Given the description of an element on the screen output the (x, y) to click on. 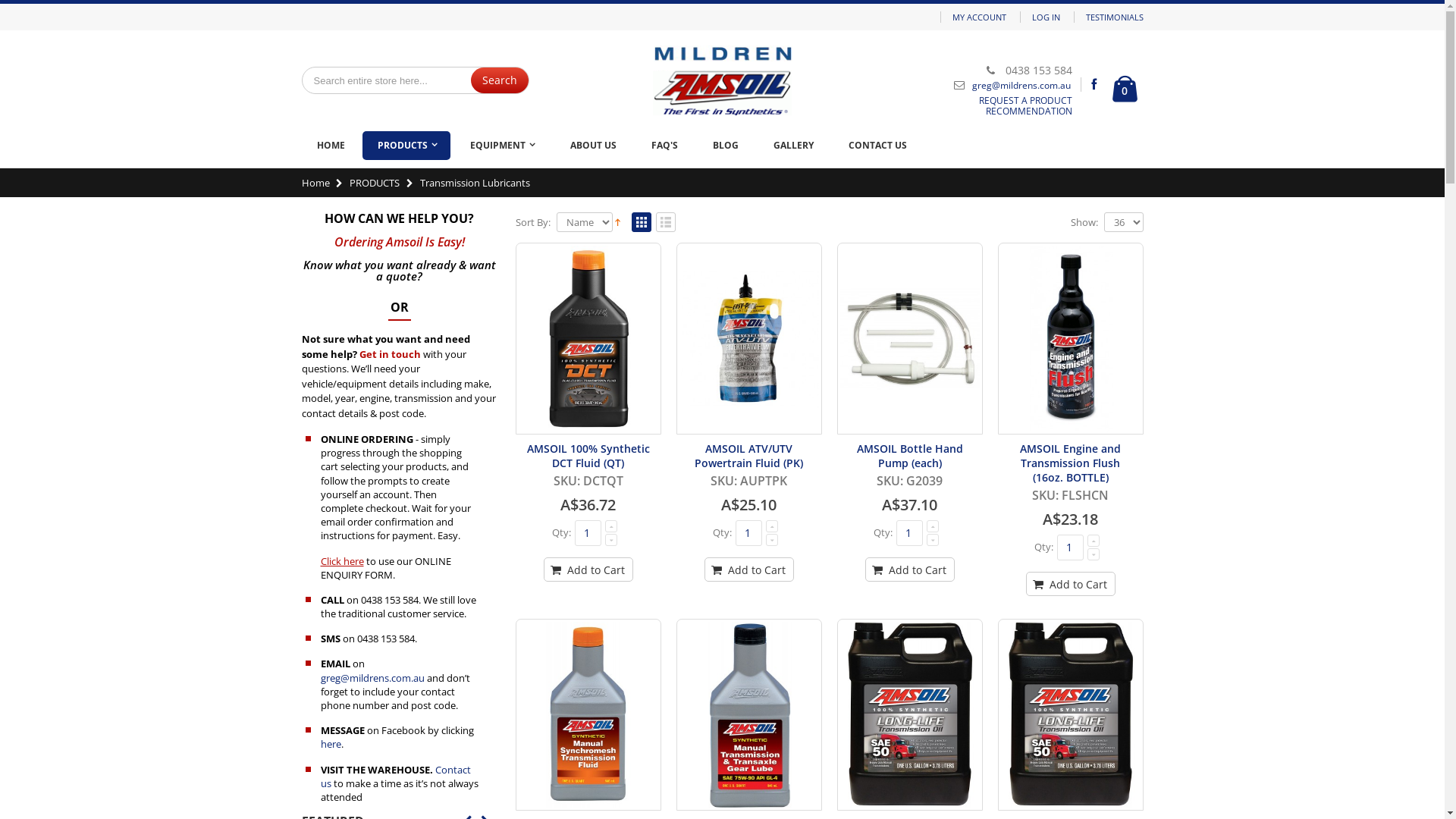
Set Descending Direction Element type: hover (616, 220)
AMSOIL 100% Synthetic DCT Fluid (QT) Element type: text (587, 455)
List Element type: hover (664, 222)
here Element type: text (330, 743)
TESTIMONIALS Element type: text (1114, 16)
AMSOIL ATV/UTV Powertrain Fluid (PK) Element type: text (748, 455)
AMSOIL ATV/UTV Powertrain Fluid (PK) Element type: hover (749, 338)
AMSOIL Bottle Hand Pump (each) Element type: hover (909, 338)
Search Element type: text (498, 80)
GALLERY Element type: text (793, 145)
MY ACCOUNT Element type: text (979, 16)
HOME Element type: text (330, 145)
Qty Element type: hover (909, 533)
REQUEST A PRODUCT
RECOMMENDATION Element type: text (1024, 105)
Contact us Element type: text (395, 776)
BLOG Element type: text (725, 145)
 Add to Cart Element type: text (908, 569)
Click here Element type: text (341, 560)
Qty Element type: hover (748, 533)
CONTACT US Element type: text (876, 145)
AMSOIL SAE 50 Long Life Synthetic Transmission Oil (GALLON) Element type: hover (1070, 714)
 Add to Cart Element type: text (587, 569)
Qty Element type: hover (1070, 547)
PRODUCTS Element type: text (406, 145)
Get in touch Element type: text (389, 353)
 Add to Cart Element type: text (1069, 583)
EQUIPMENT Element type: text (501, 145)
AMSOIL Manual Synchromesh Transmission Fluid 5W-30 (QT) Element type: hover (588, 714)
LOG IN Element type: text (1045, 16)
FAQ'S Element type: text (663, 145)
AMSOIL Manual Transmission & Transaxle Gear Lube 75W-90 (QT) Element type: hover (749, 714)
Home Element type: text (315, 182)
Qty Element type: hover (587, 533)
 Add to Cart Element type: text (748, 569)
0 Element type: text (1123, 88)
ABOUT US Element type: text (593, 145)
AMSOIL Bottle Hand Pump (each) Element type: text (909, 455)
AMSOIL Engine and Transmission Flush (16oz. BOTTLE) Element type: text (1069, 462)
AMSOIL 100% Synthetic DCT Fluid (QT) Element type: hover (588, 338)
Mildren AMSOIL Element type: hover (721, 80)
greg@mildrens.com.au Element type: text (371, 677)
AMSOIL Engine and Transmission Flush (16oz. BOTTLE) Element type: hover (1070, 338)
greg@mildrens.com.au Element type: text (1021, 84)
Grid Element type: hover (640, 222)
PRODUCTS Element type: text (374, 182)
